Given the description of an element on the screen output the (x, y) to click on. 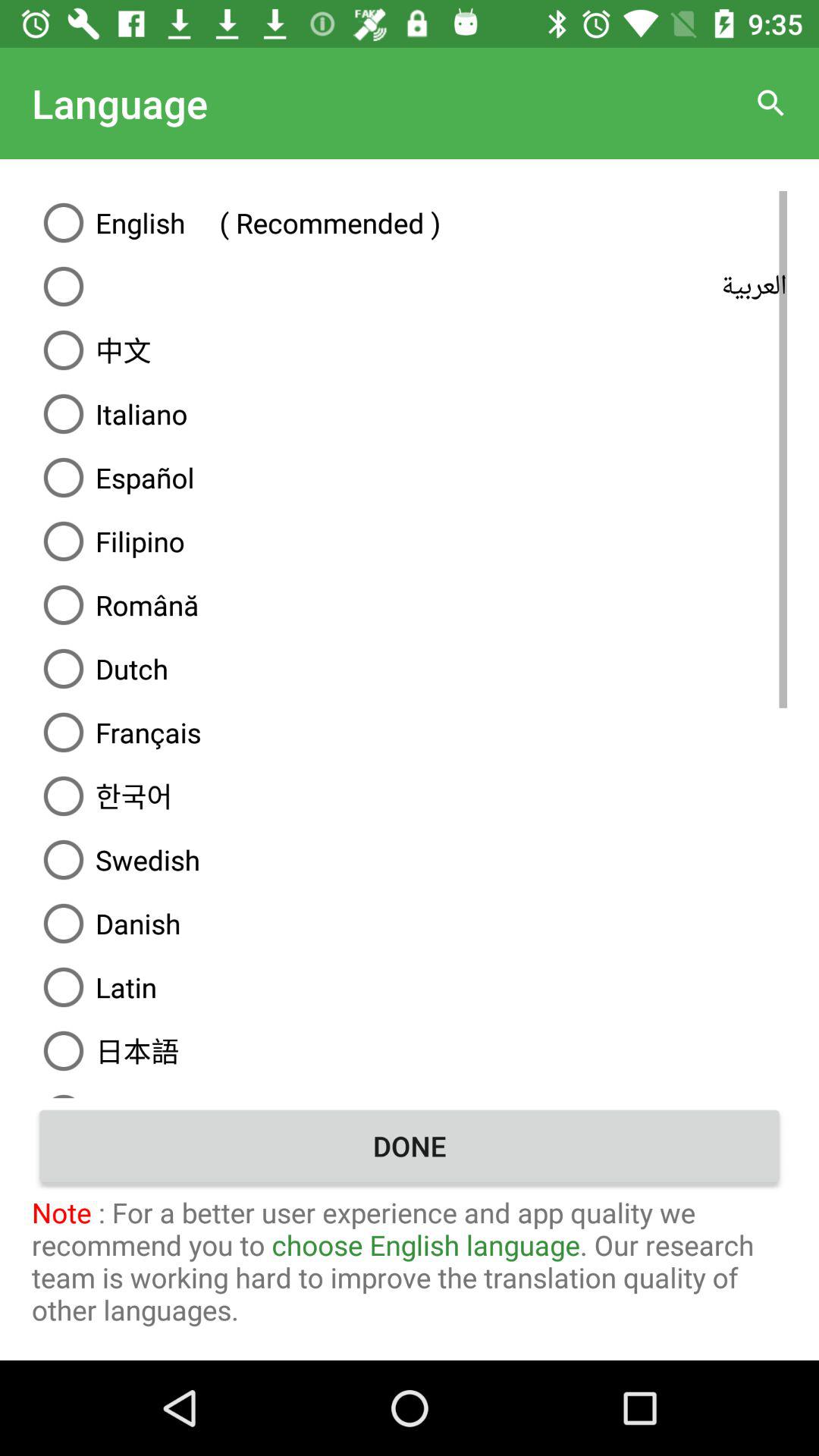
jump until the english     ( recommended ) icon (409, 222)
